Given the description of an element on the screen output the (x, y) to click on. 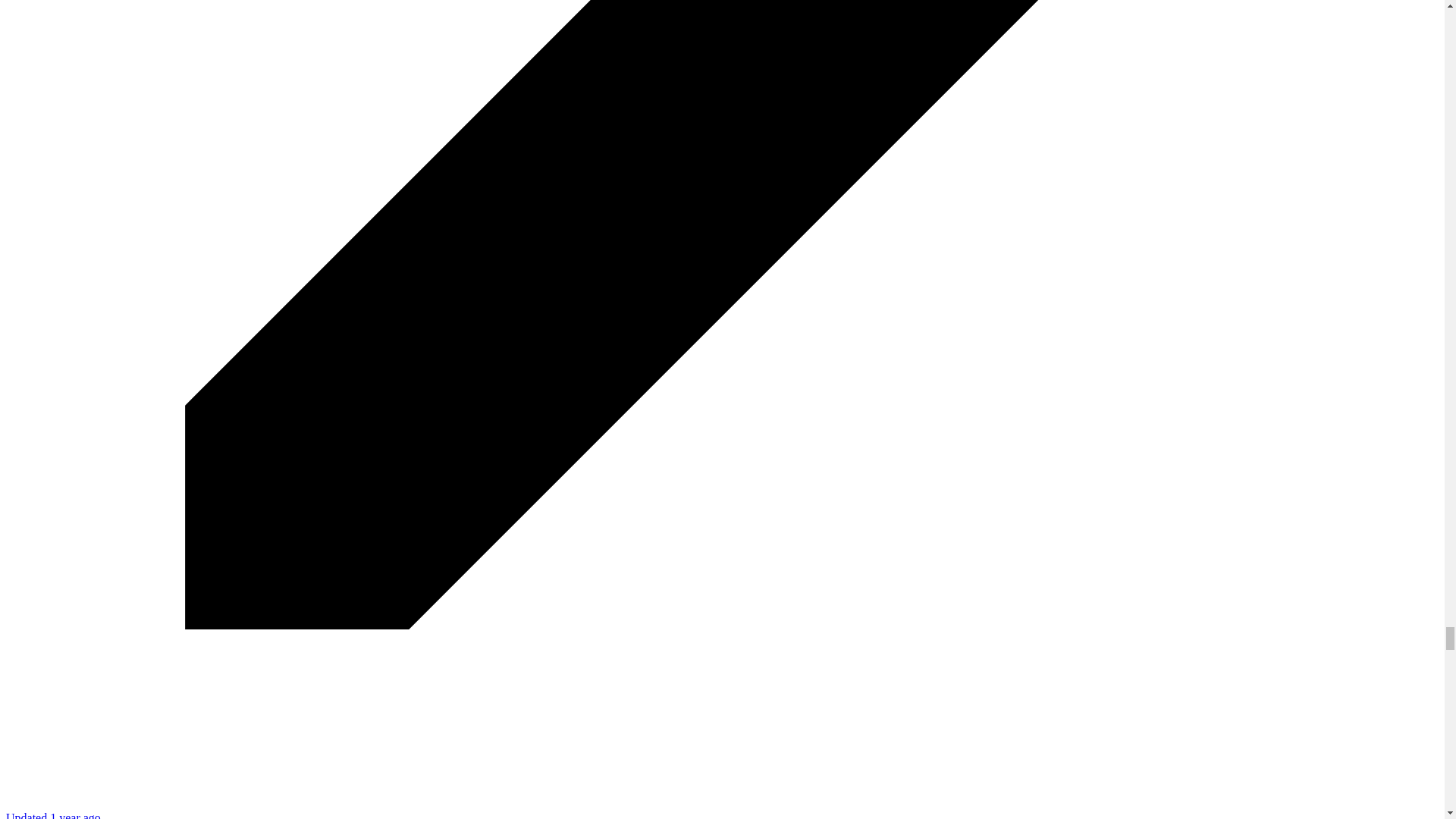
Sun, Nov 13, 2022 2:52 PM (52, 815)
